Given the description of an element on the screen output the (x, y) to click on. 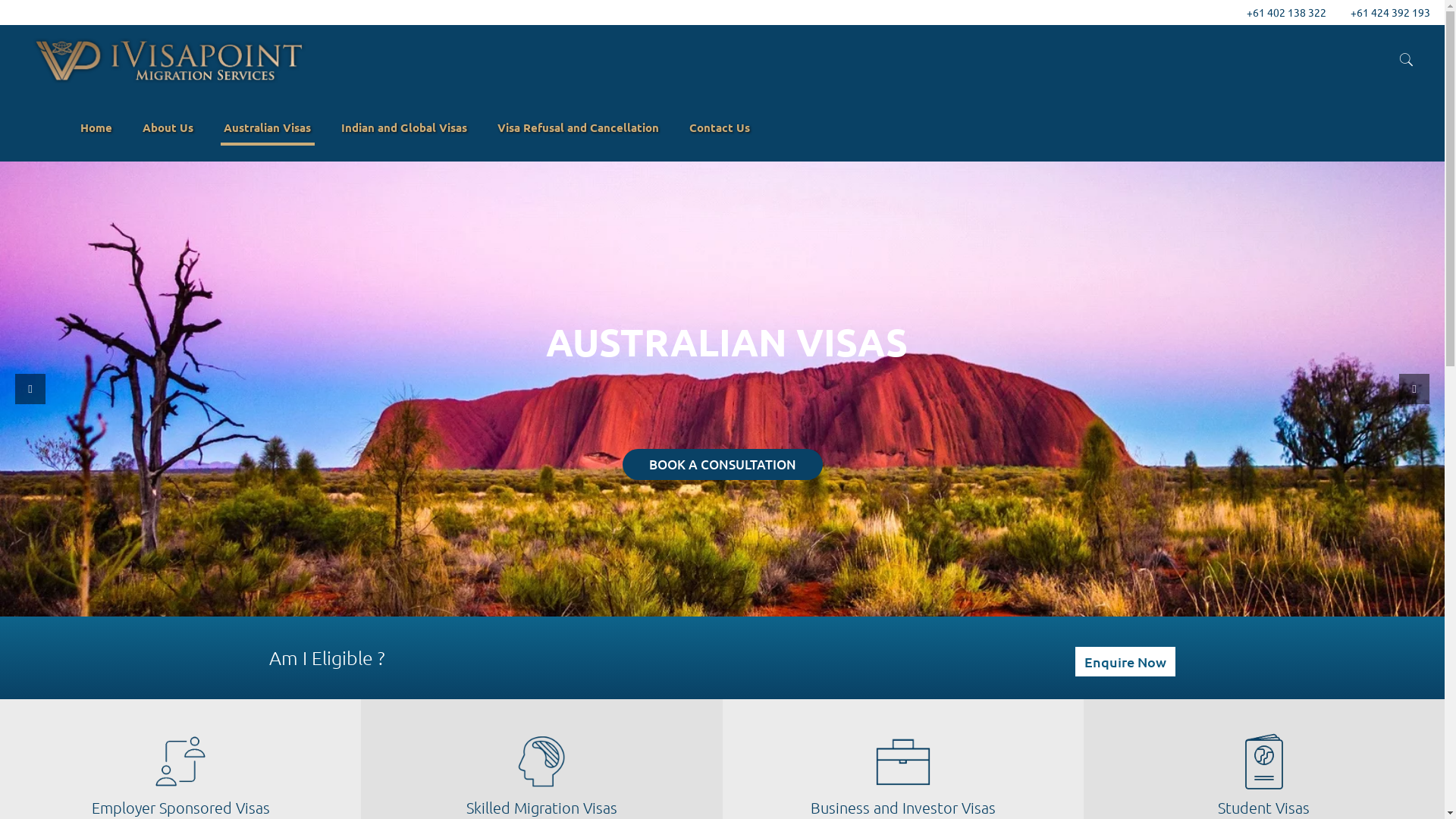
Home Element type: text (96, 127)
+61 424 392 193 Element type: text (1390, 11)
Indian and Global Visas Element type: text (404, 127)
Enquire Now Element type: text (1125, 661)
iVisaPoint Element type: hover (166, 59)
About Us Element type: text (167, 127)
Visa Refusal and Cancellation Element type: text (578, 127)
+61 402 138 322 Element type: text (1286, 11)
Contact Us Element type: text (719, 127)
Australian Visas Element type: text (267, 127)
